Given the description of an element on the screen output the (x, y) to click on. 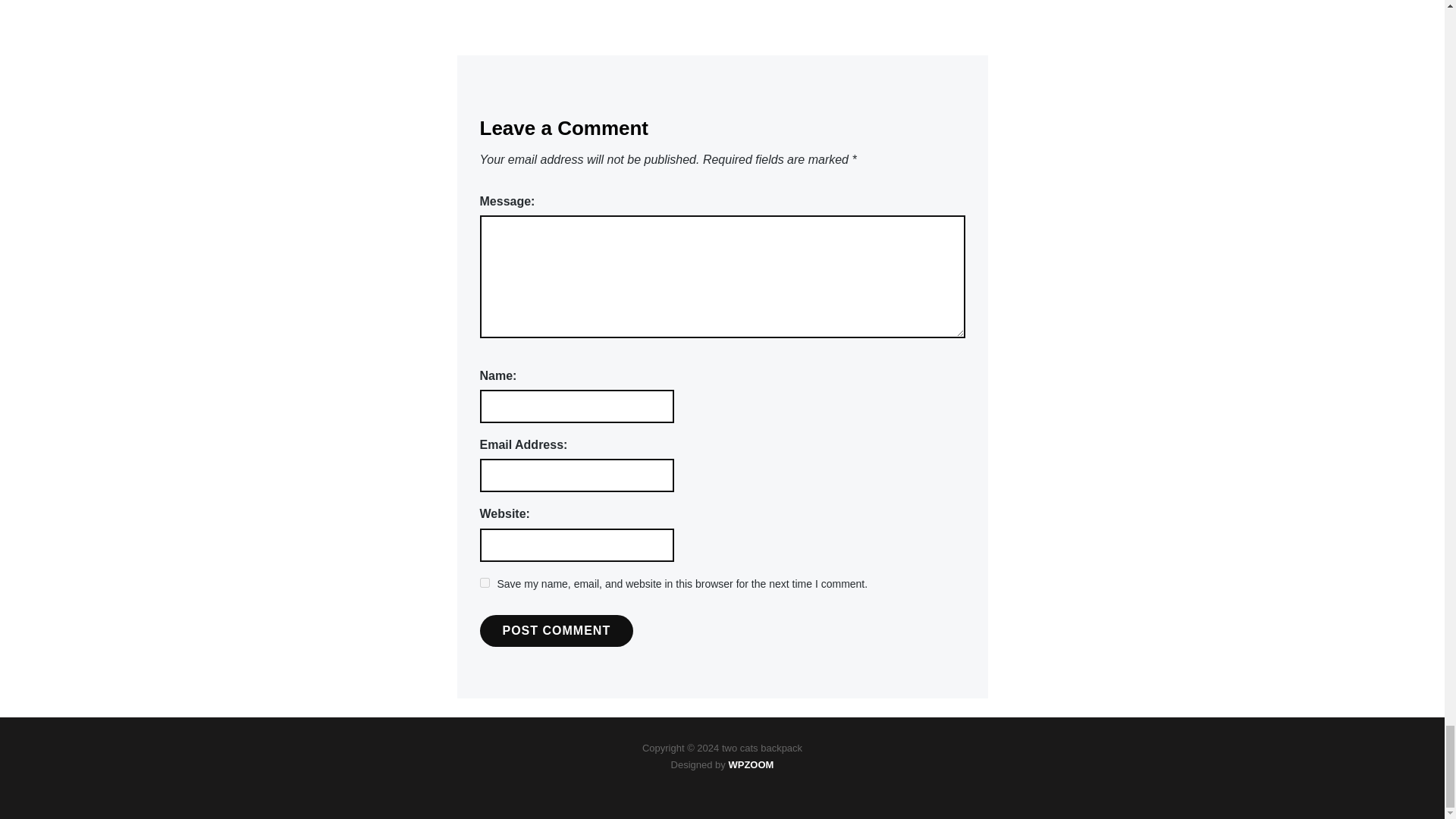
Post Comment (556, 631)
yes (484, 583)
